Given the description of an element on the screen output the (x, y) to click on. 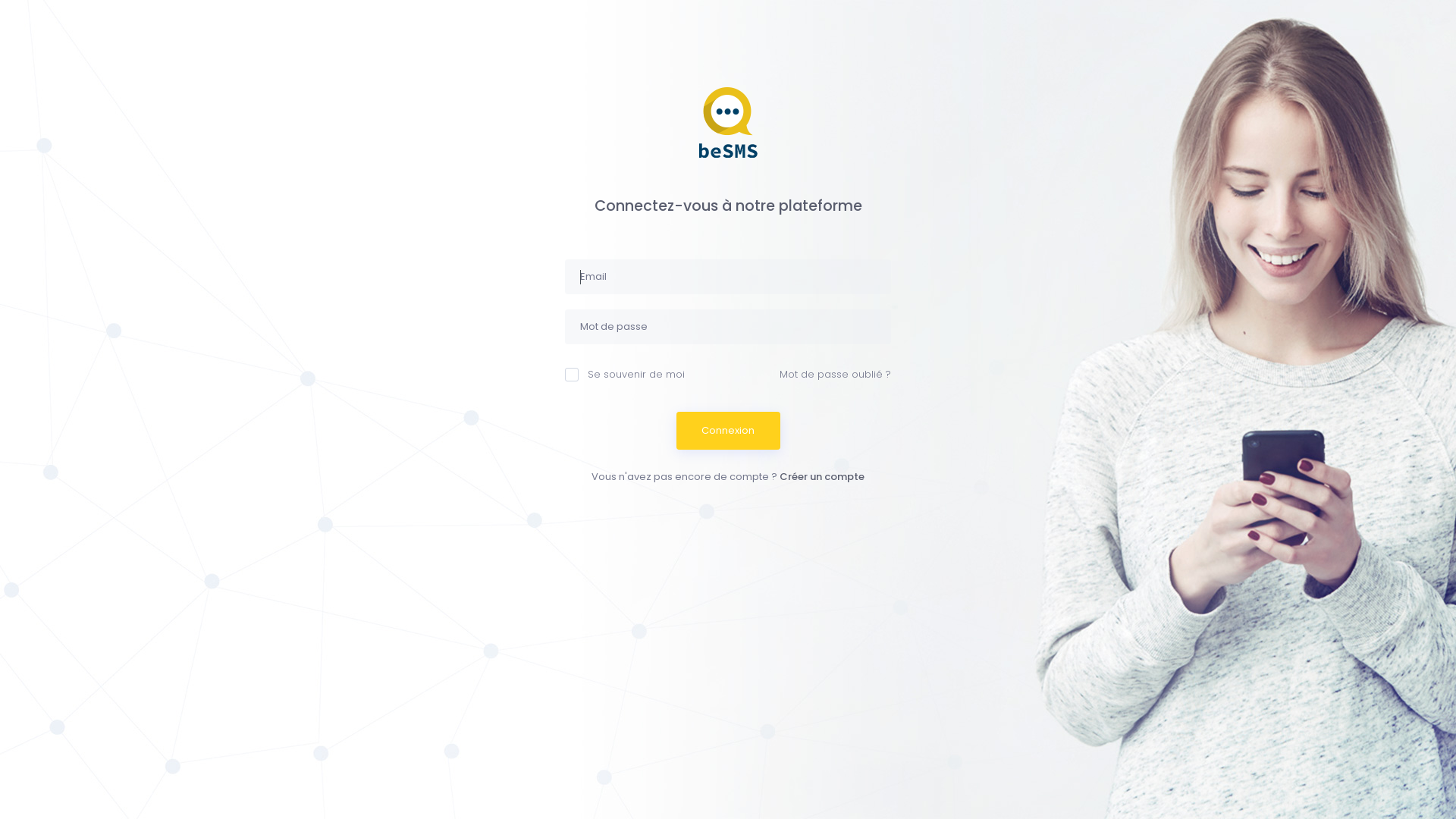
Connexion Element type: text (728, 430)
